Given the description of an element on the screen output the (x, y) to click on. 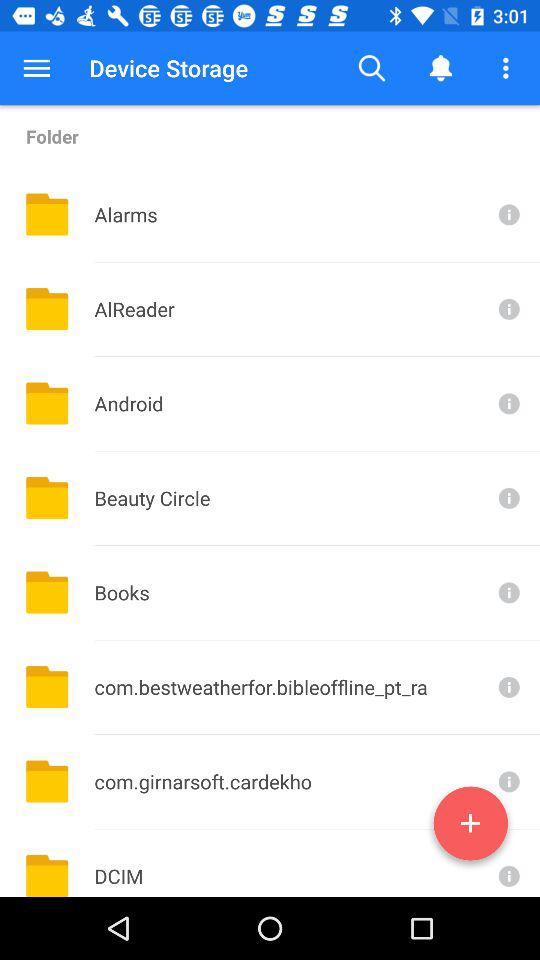
see information (507, 308)
